Given the description of an element on the screen output the (x, y) to click on. 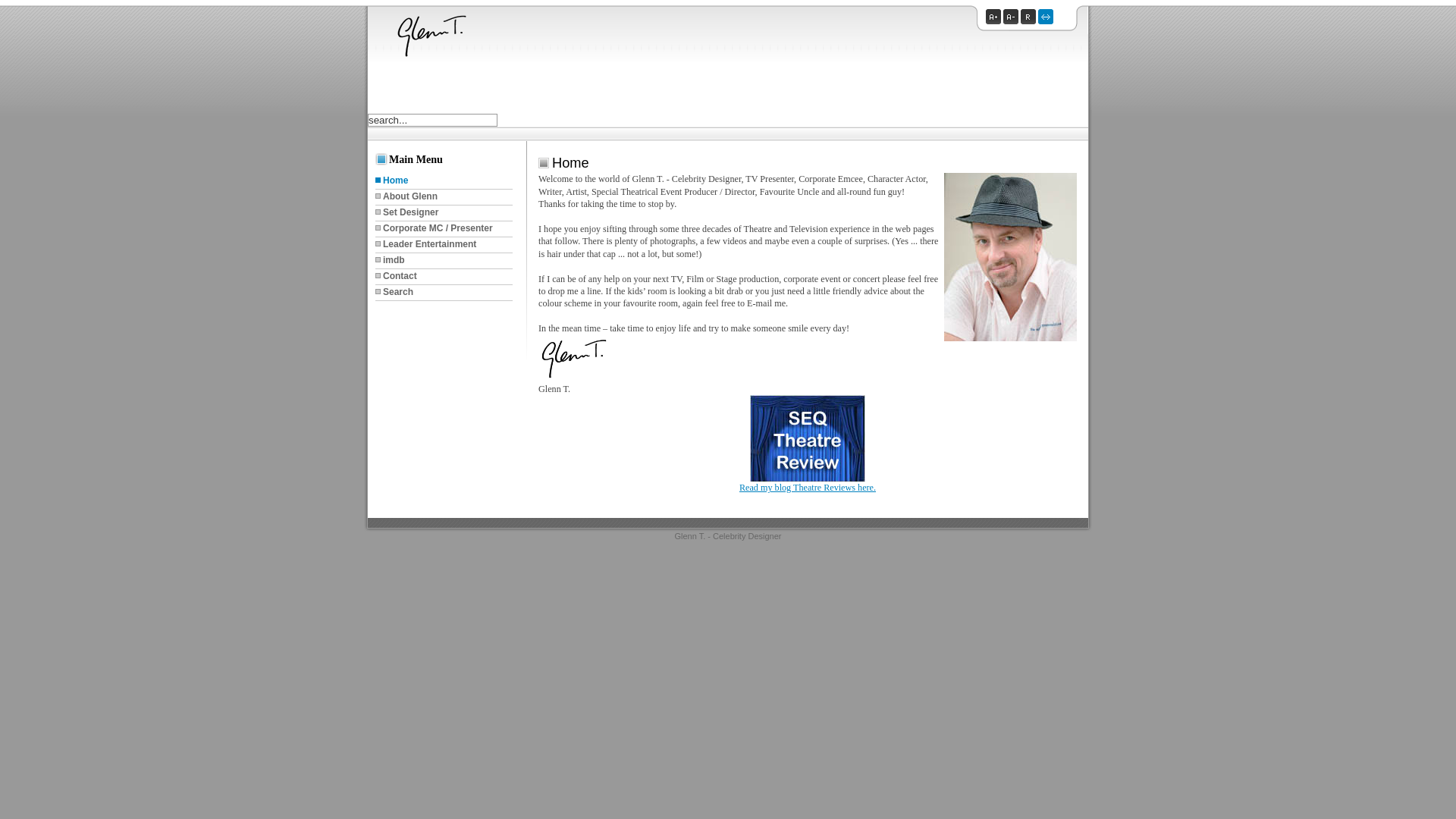
Read my blog Theatre Reviews here. Element type: text (807, 487)
Corporate MC / Presenter Element type: text (443, 229)
Revert text styles to default Element type: hover (1029, 20)
Increase Text Size Element type: hover (994, 20)
Home Element type: text (443, 181)
Glenn T. - Celebrity Designer Element type: text (727, 535)
Contact Element type: text (443, 277)
Decrease Text Size Element type: hover (1011, 20)
Leader Entertainment Element type: text (443, 245)
Switch to fluid-width version Element type: hover (1046, 20)
About Glenn Element type: text (443, 197)
Set Designer Element type: text (443, 213)
Glenn T - Celebrity Designer Element type: text (457, 35)
Search Element type: text (443, 293)
imdb Element type: text (443, 261)
